Given the description of an element on the screen output the (x, y) to click on. 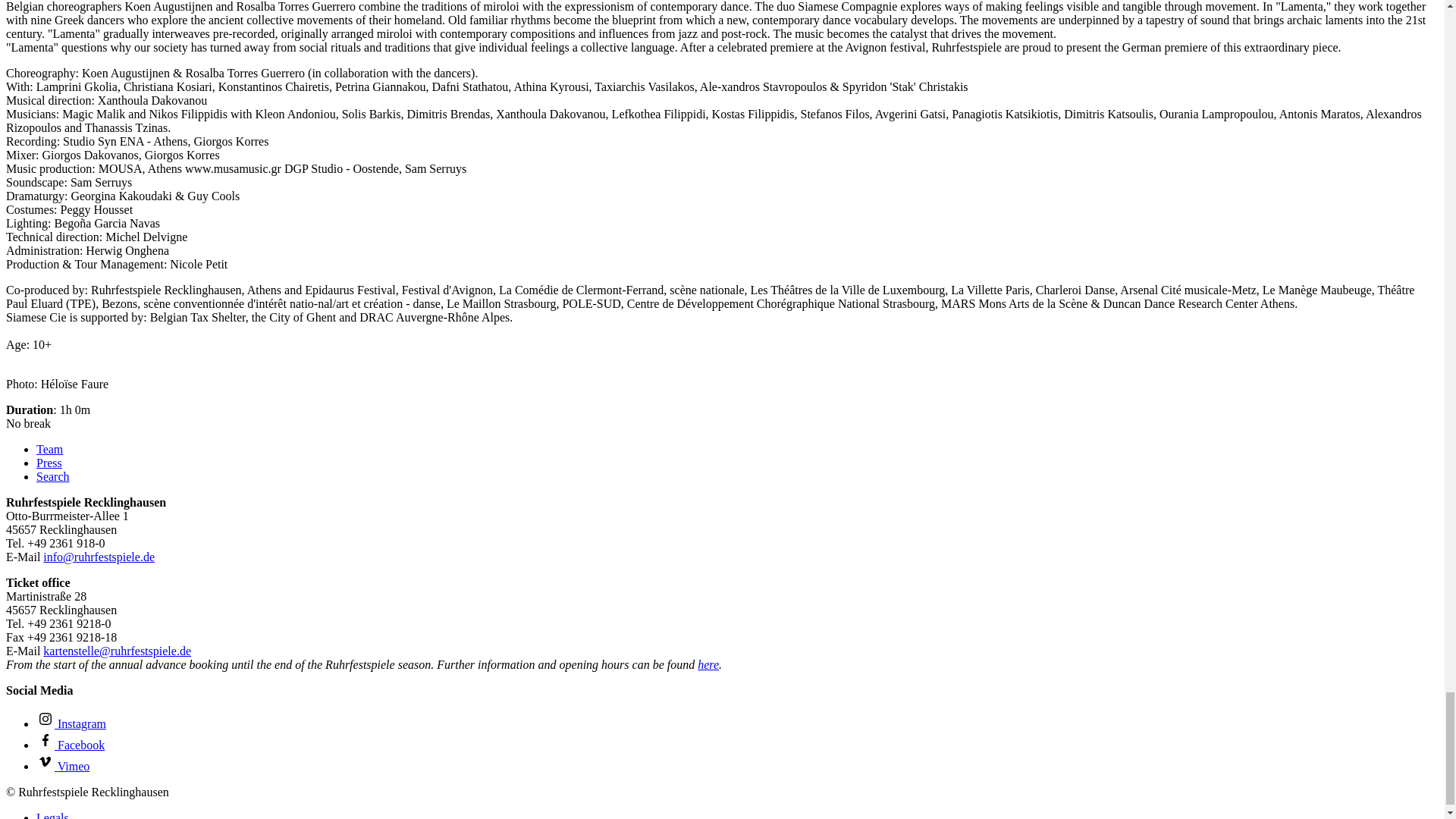
Press (49, 462)
Search (52, 476)
Team (49, 449)
ic-social-instagram Instagram (71, 723)
ic-social-facebook (45, 740)
here (708, 664)
ic-social-facebook Facebook (70, 744)
ic-social-instagram (45, 719)
ic-social-vimeo (45, 761)
ic-social-vimeo Vimeo (62, 766)
